Given the description of an element on the screen output the (x, y) to click on. 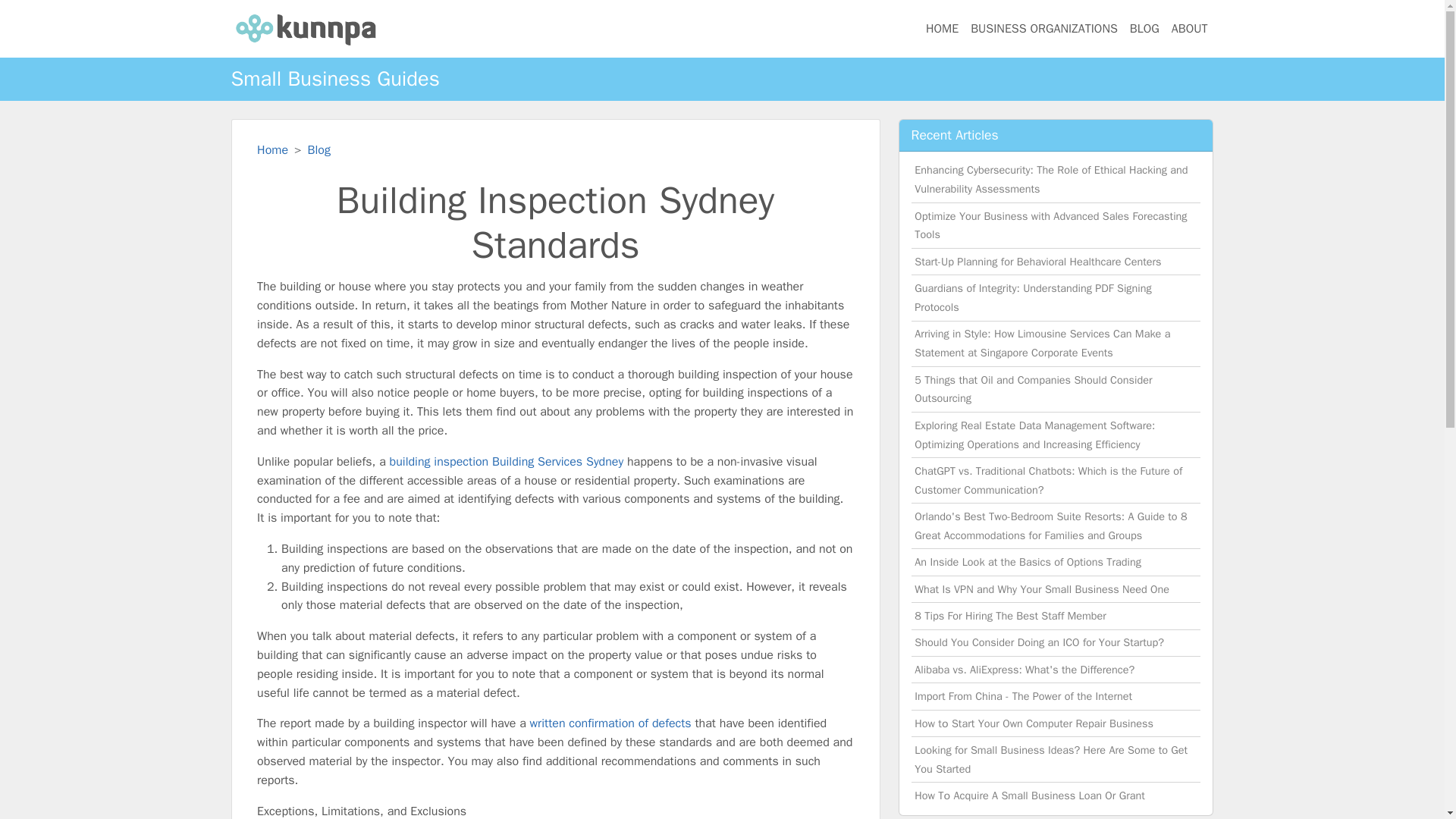
Alibaba vs. AliExpress: What's the Difference? (1024, 669)
5 Things that Oil and Companies Should Consider Outsourcing (1032, 389)
Home (272, 150)
building inspection Building Services Sydney (507, 461)
BUSINESS ORGANIZATIONS (1043, 29)
What Is VPN and Why Your Small Business Need One (1041, 589)
BLOG (1145, 29)
Should You Consider Doing an ICO for Your Startup? (1038, 642)
Start-Up Planning for Behavioral Healthcare Centers (1037, 261)
written confirmation of defects (610, 723)
